Given the description of an element on the screen output the (x, y) to click on. 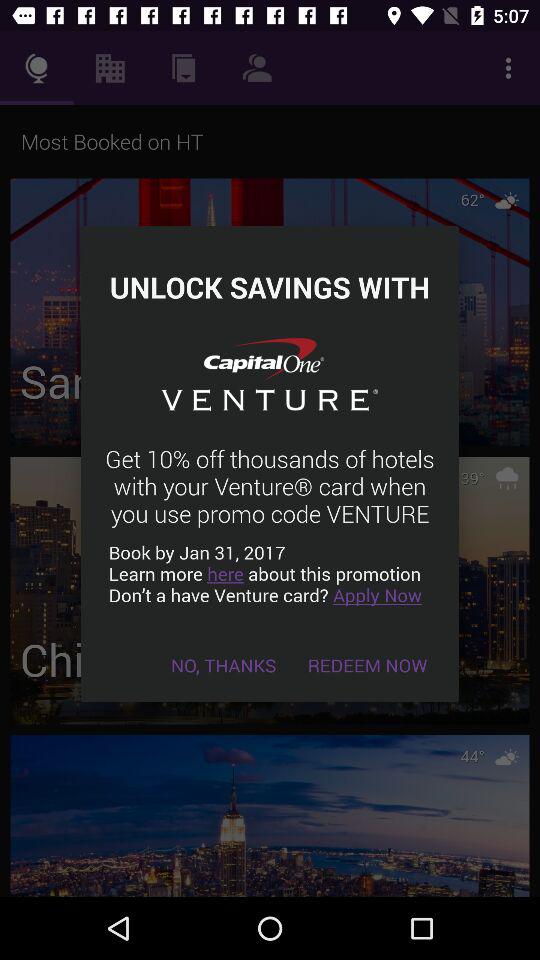
swipe until the redeem now item (367, 664)
